Given the description of an element on the screen output the (x, y) to click on. 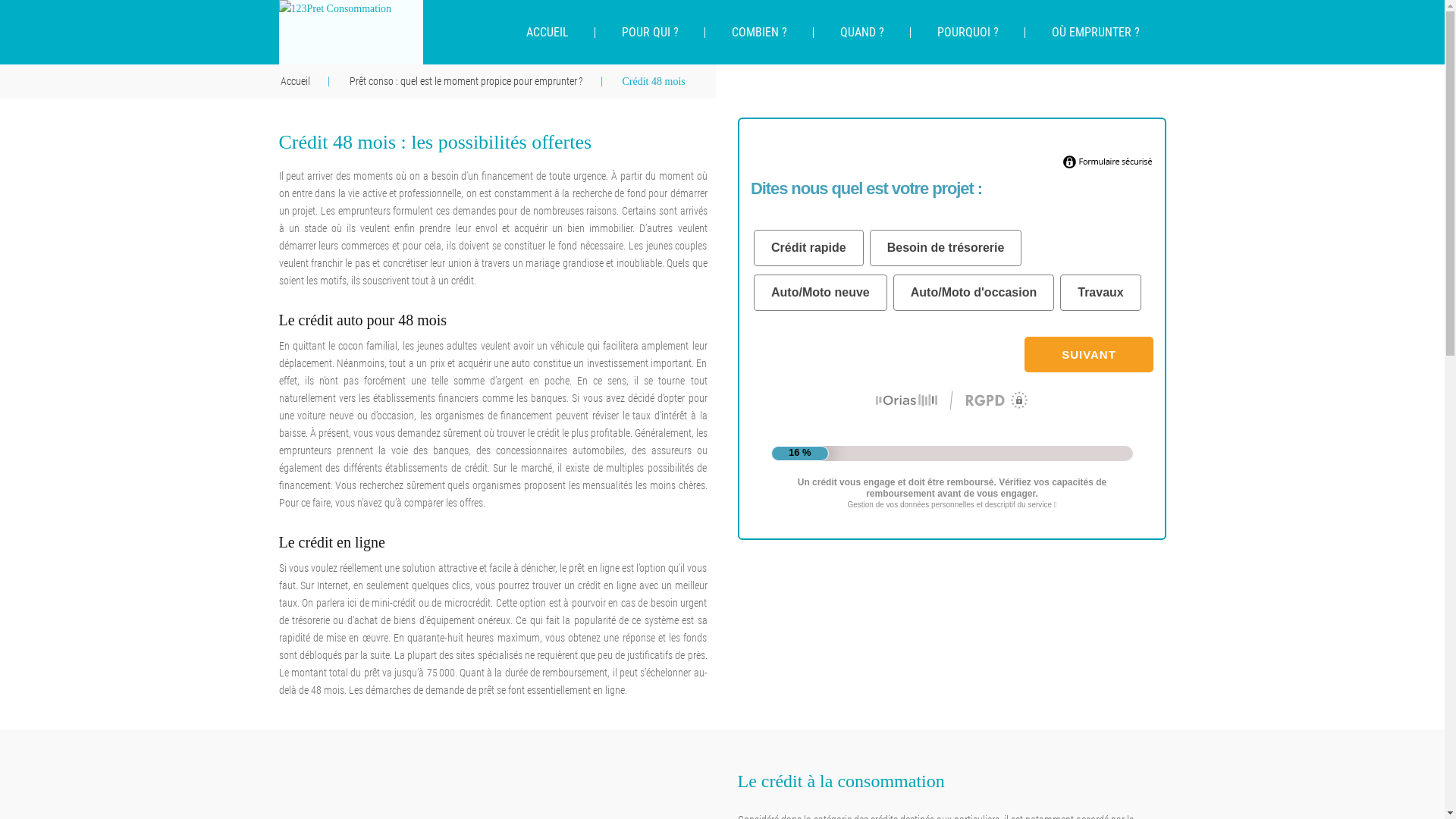
Accueil Element type: text (313, 81)
QUAND ? Element type: text (861, 32)
POUR QUI ? Element type: text (649, 32)
COMBIEN ? Element type: text (759, 32)
123Pret Consommation Element type: hover (351, 32)
POURQUOI ? Element type: text (967, 32)
ACCUEIL Element type: text (546, 32)
